Given the description of an element on the screen output the (x, y) to click on. 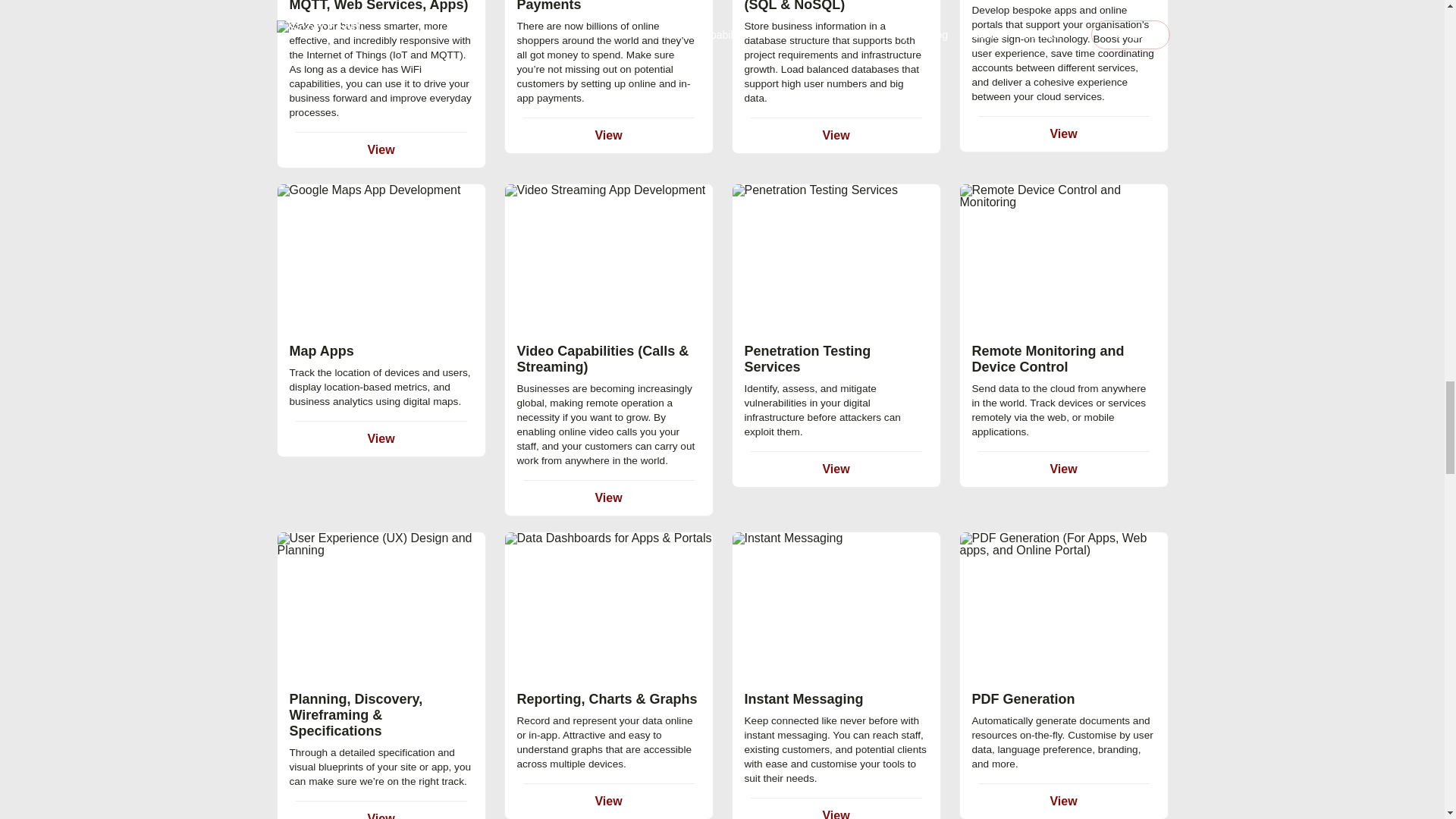
View (835, 134)
View (1063, 133)
View (607, 134)
View (380, 149)
View (380, 438)
